Given the description of an element on the screen output the (x, y) to click on. 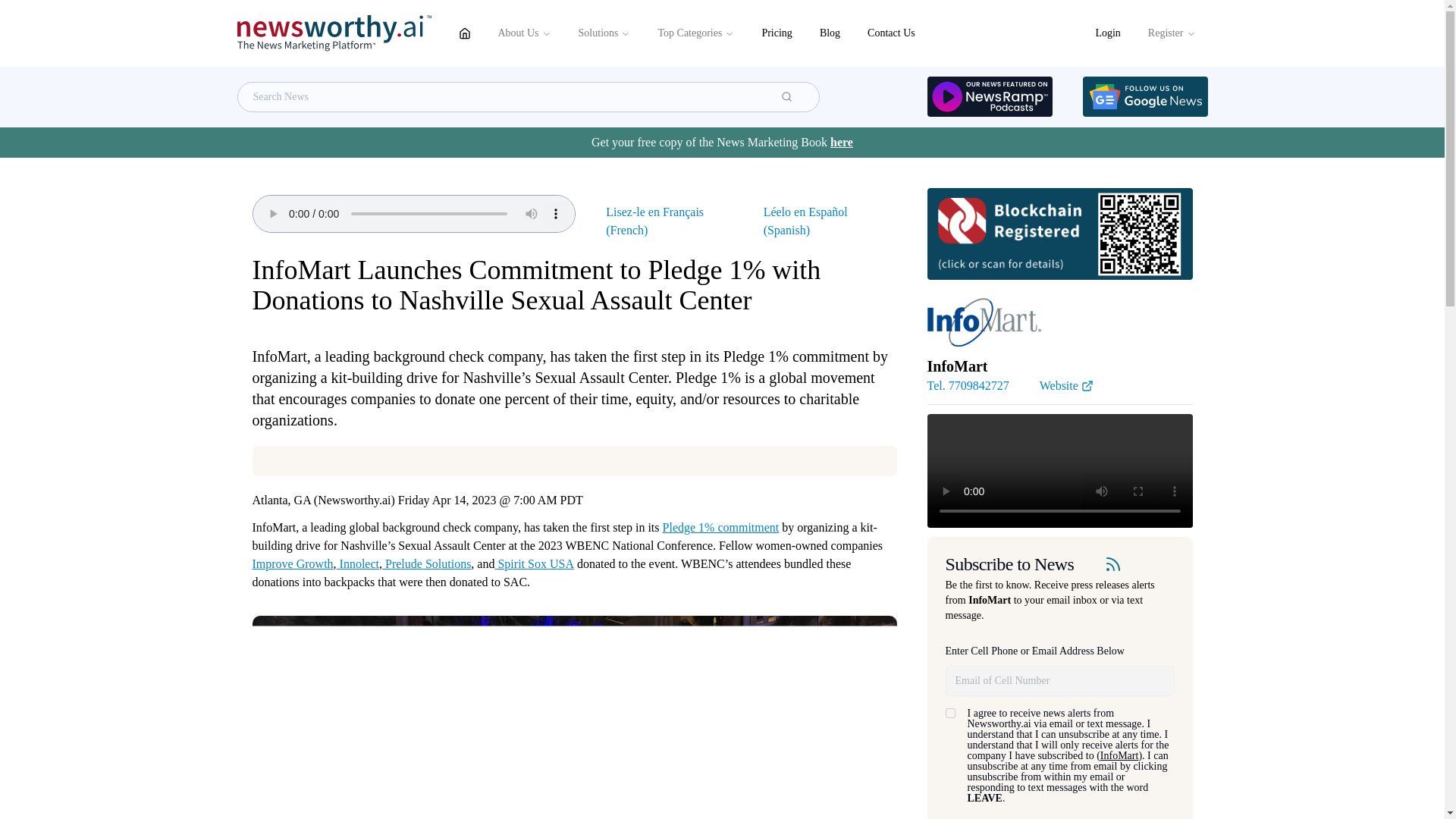
Pricing (776, 33)
homepage (463, 33)
Improve Growth (292, 563)
Innolect (357, 563)
Spirit Sox USA (534, 563)
Solutions (604, 33)
Blog (829, 33)
Login (1107, 33)
Tel. 7709842727 (967, 385)
Prelude Solutions (425, 563)
